Given the description of an element on the screen output the (x, y) to click on. 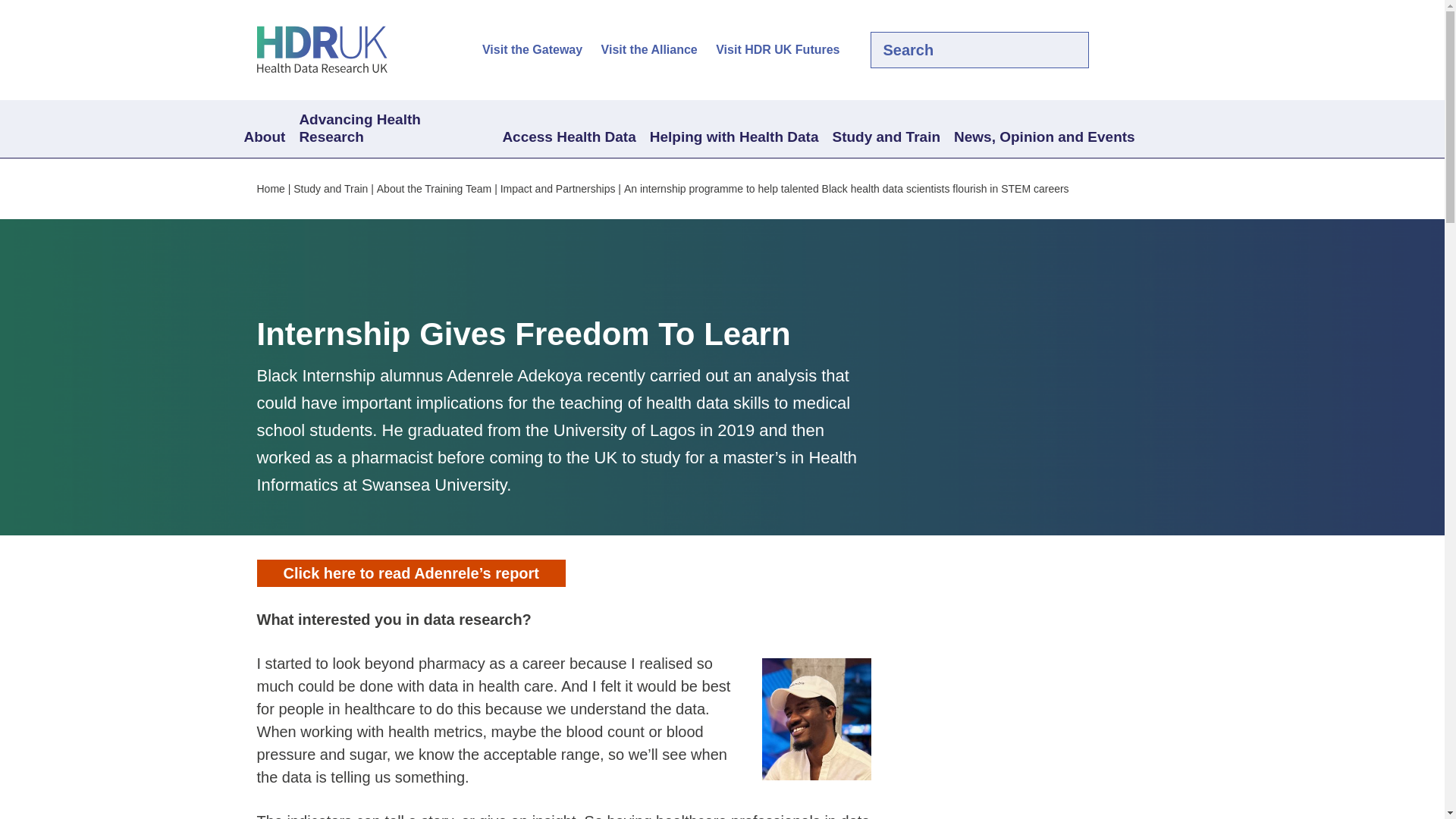
Visit the Alliance (649, 49)
Helping with Health Data (734, 137)
Advancing Health Research (393, 128)
Access Health Data (568, 137)
Visit HDR UK Futures (778, 49)
LinkedIn (1152, 50)
YouTube (1179, 50)
About (263, 137)
Visit the Gateway (531, 49)
Twitter (1126, 50)
